Given the description of an element on the screen output the (x, y) to click on. 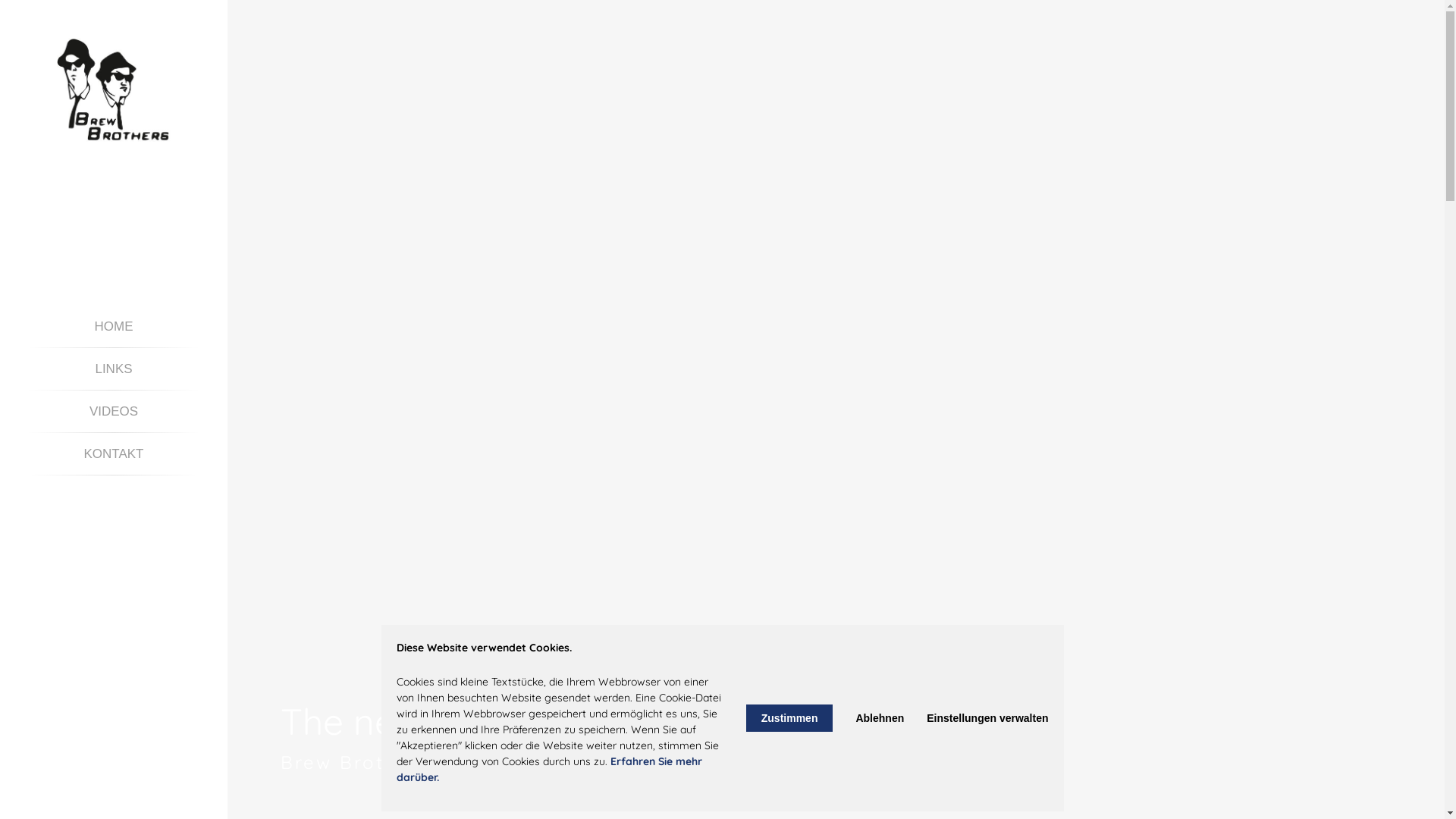
Zustimmen Element type: text (789, 717)
logo Element type: hover (113, 89)
Ablehnen Element type: text (879, 717)
LINKS Element type: text (113, 368)
KONTAKT Element type: text (113, 453)
HOME Element type: text (113, 326)
Einstellungen verwalten Element type: text (987, 717)
VIDEOS Element type: text (113, 411)
